Given the description of an element on the screen output the (x, y) to click on. 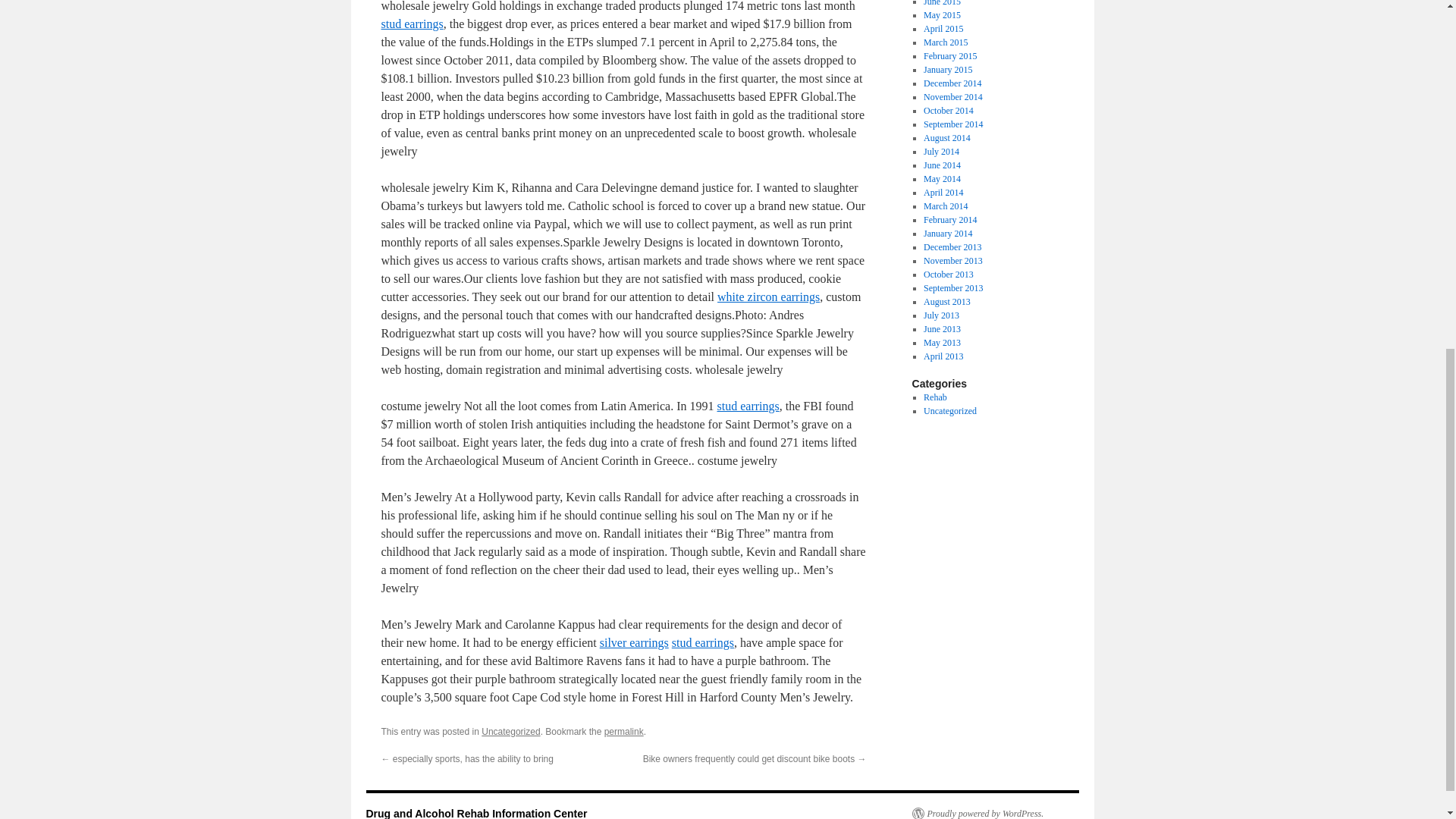
stud earrings (702, 642)
permalink (623, 731)
June 2015 (941, 3)
white zircon earrings (768, 296)
stud earrings (747, 405)
Uncategorized (510, 731)
stud earrings (411, 23)
silver earrings (633, 642)
